Given the description of an element on the screen output the (x, y) to click on. 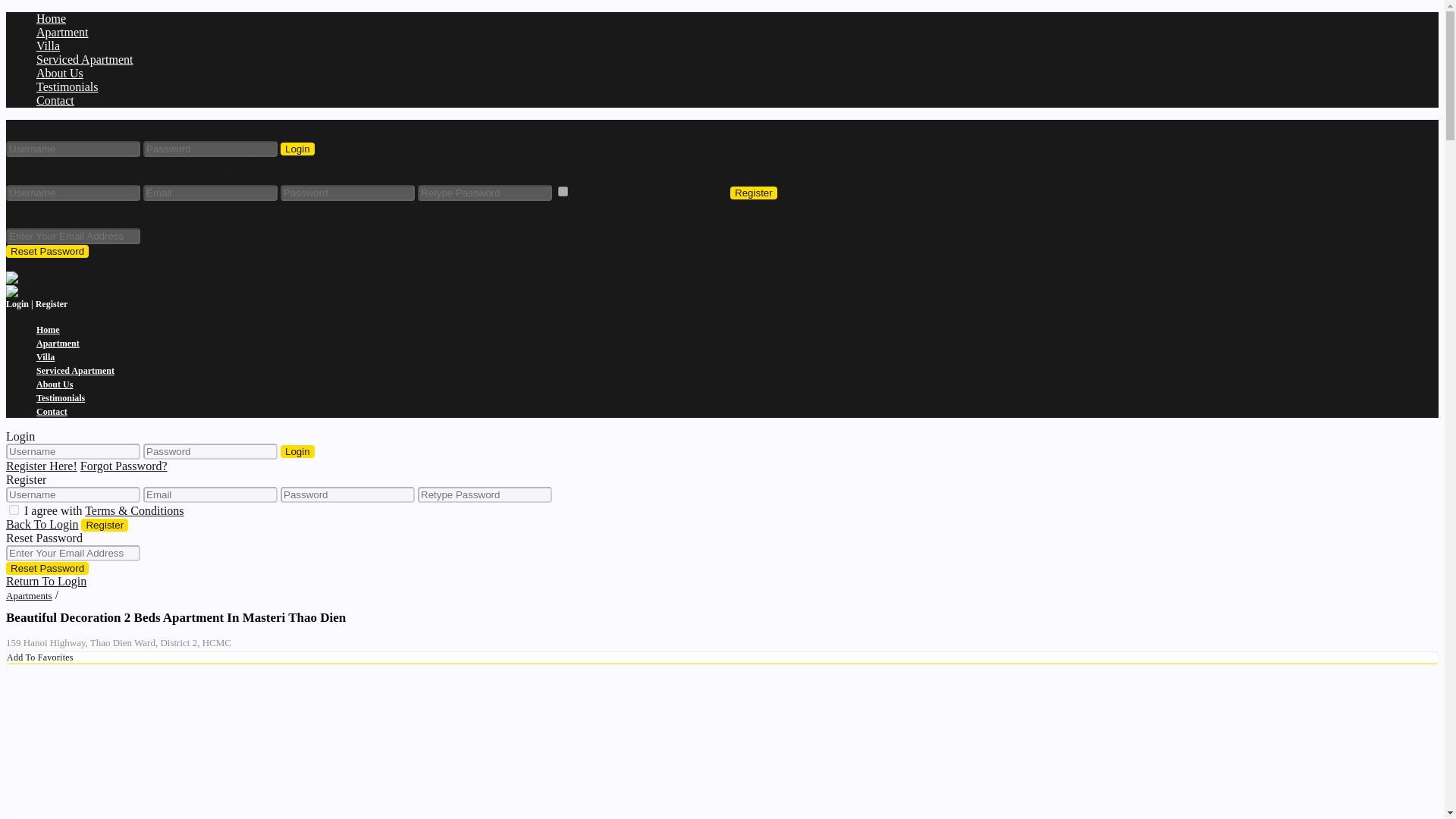
Register (104, 524)
Serviced Apartment (84, 59)
Login (297, 148)
Apartment (58, 343)
Contact (51, 411)
on (13, 510)
Register Here! (41, 465)
Apartments (28, 595)
About Us (59, 72)
Home (47, 329)
Villa (47, 45)
Discover a place you will love in HCMC (22, 278)
Home (50, 18)
Villa (45, 357)
Need an account? Register here! (84, 163)
